Given the description of an element on the screen output the (x, y) to click on. 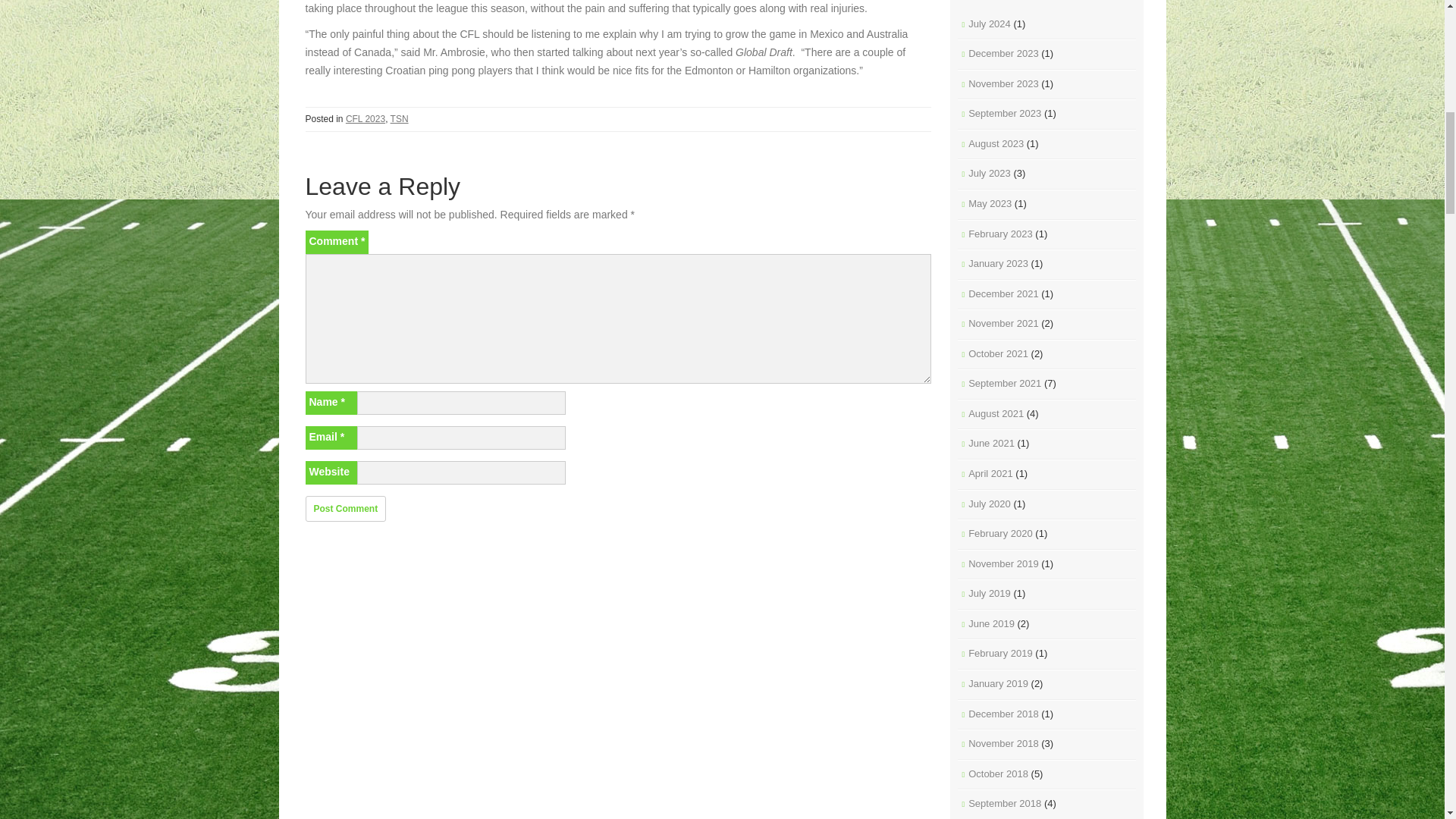
December 2021 (1003, 293)
September 2023 (1004, 112)
July 2023 (989, 173)
October 2021 (997, 353)
February 2023 (1000, 233)
November 2023 (1003, 83)
Post Comment (344, 508)
February 2020 (1000, 532)
August 2023 (995, 143)
December 2023 (1003, 52)
July 2024 (989, 23)
TSN (399, 118)
April 2021 (990, 473)
January 2023 (997, 263)
November 2019 (1003, 563)
